Given the description of an element on the screen output the (x, y) to click on. 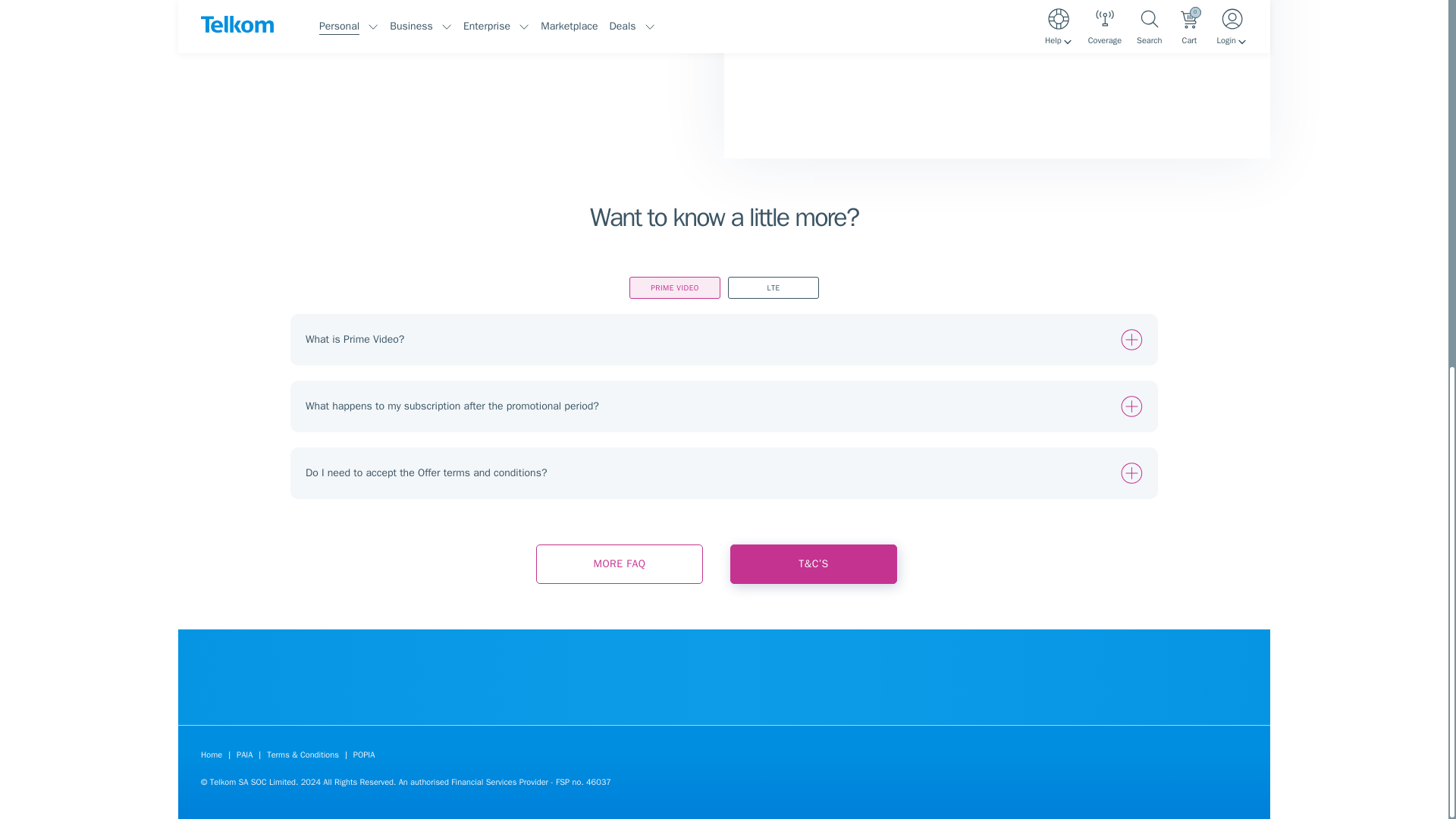
Telkom (1186, 786)
LTE (773, 287)
PRIME VIDEO (674, 287)
Home (211, 754)
Telkom (1237, 786)
Telkom (1160, 786)
Telkom (1212, 786)
Telkom (243, 754)
